Given the description of an element on the screen output the (x, y) to click on. 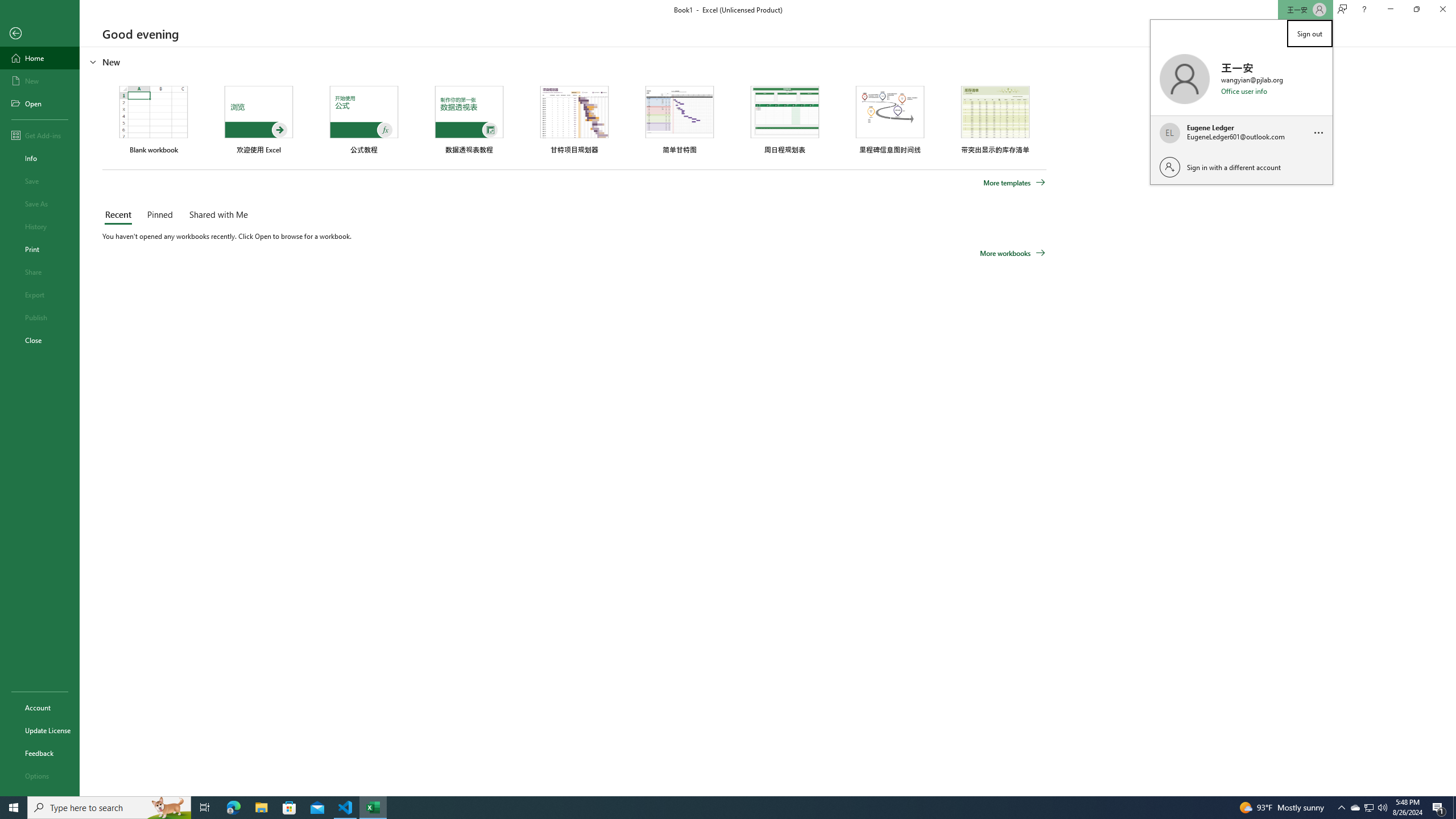
Hide or show region (92, 61)
User Promoted Notification Area (1368, 807)
Task View (204, 807)
Show desktop (1454, 807)
Microsoft Store (289, 807)
Pinned (159, 215)
Account (40, 707)
Notification Chevron (1341, 807)
